Given the description of an element on the screen output the (x, y) to click on. 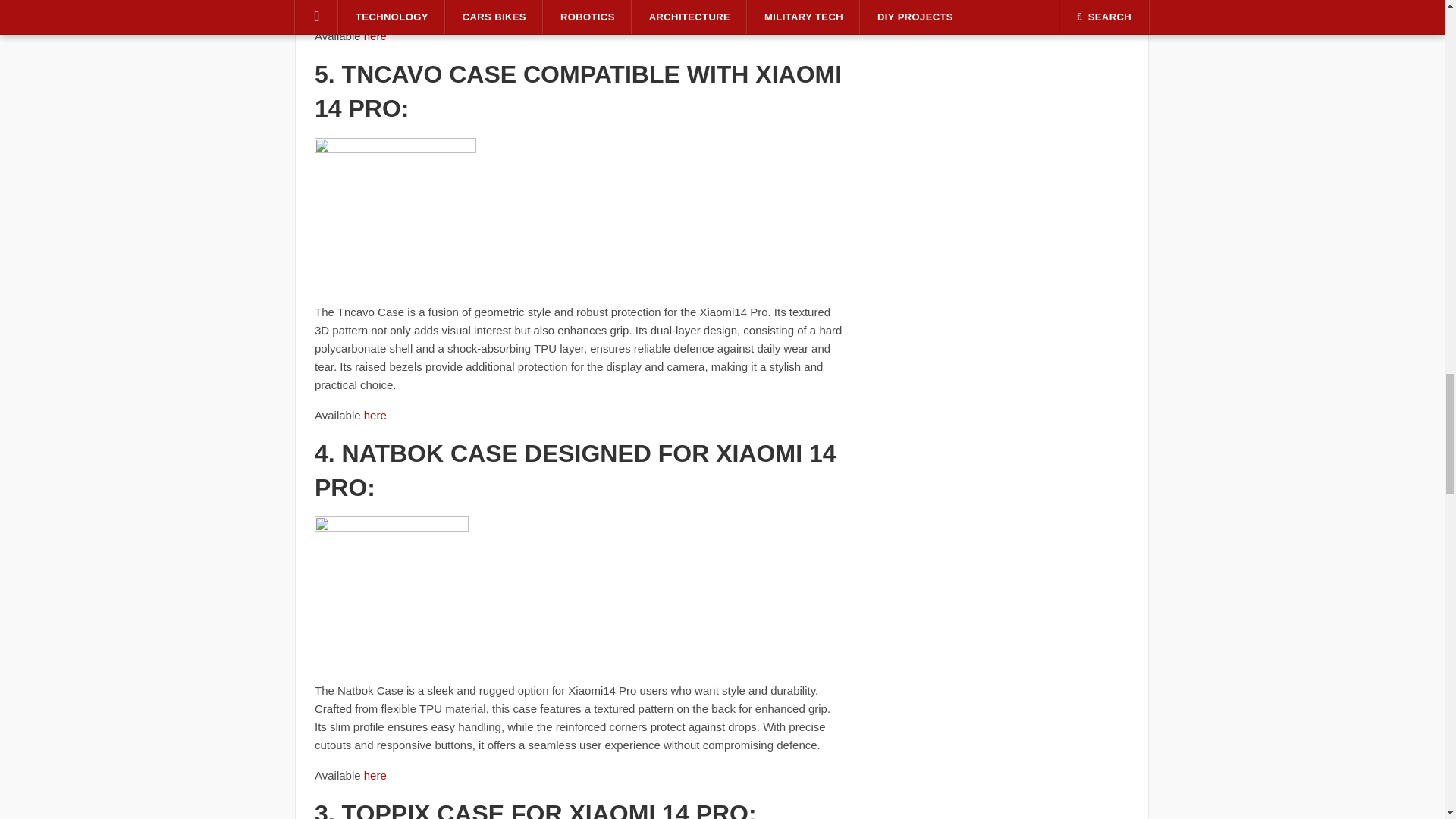
here (375, 35)
here (375, 775)
here (375, 414)
